Given the description of an element on the screen output the (x, y) to click on. 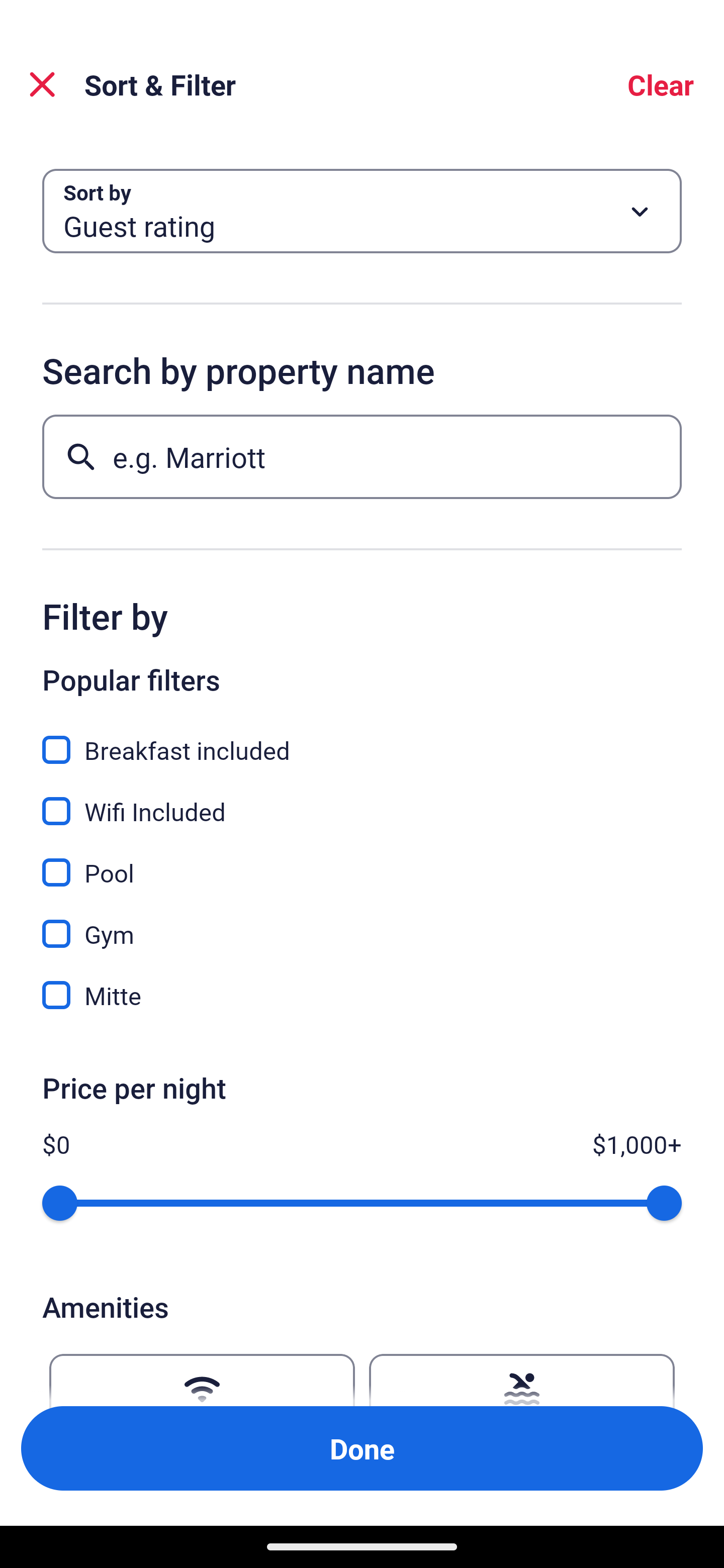
Close Sort and Filter (42, 84)
Clear (660, 84)
Sort by Button Guest rating (361, 211)
e.g. Marriott Button (361, 455)
Breakfast included, Breakfast included (361, 738)
Wifi Included, Wifi Included (361, 800)
Pool, Pool (361, 861)
Gym, Gym (361, 922)
Mitte, Mitte (361, 995)
Apply and close Sort and Filter Done (361, 1448)
